Given the description of an element on the screen output the (x, y) to click on. 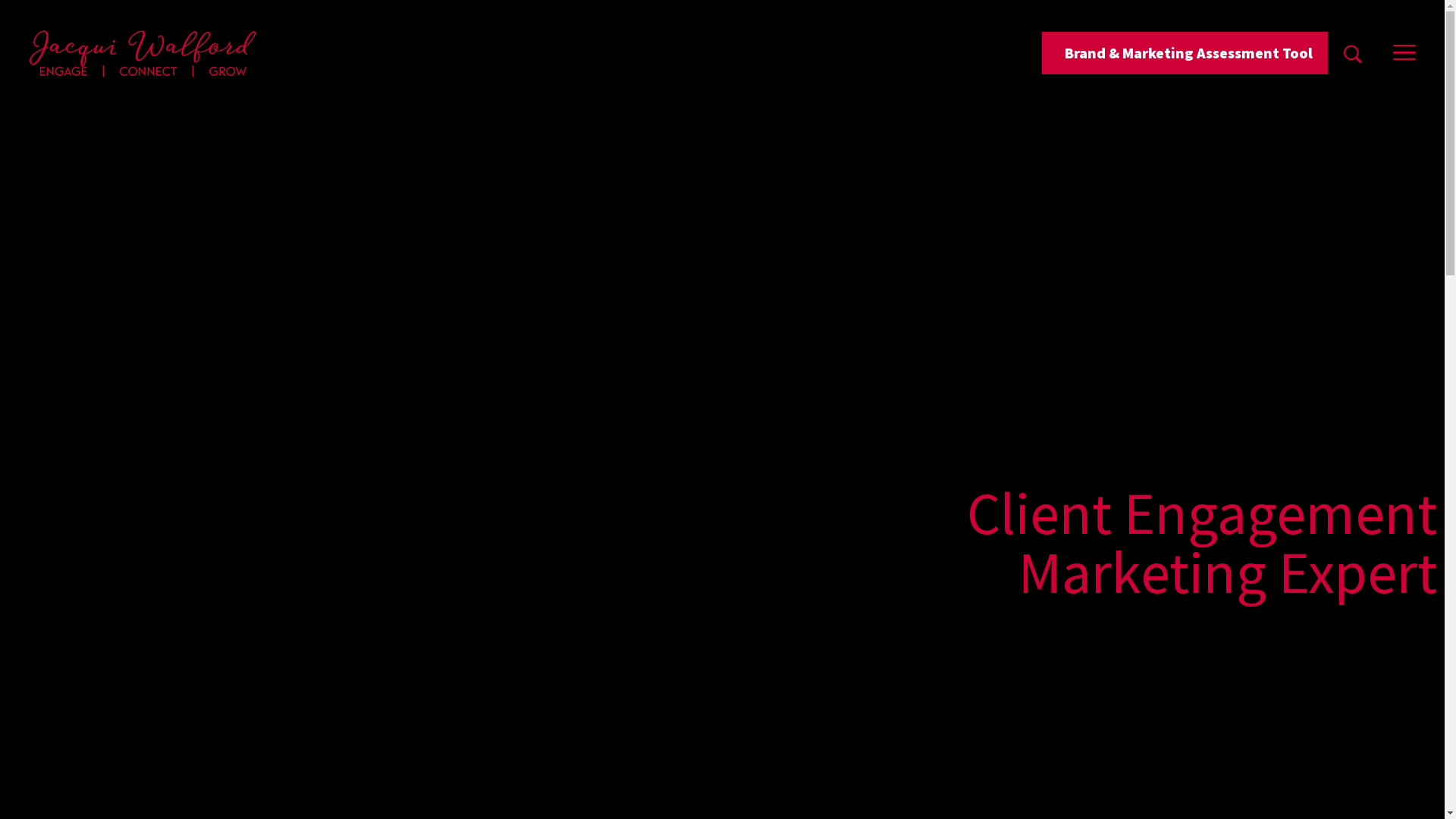
Brand & Marketing Assessment Tool Element type: text (1184, 52)
